Given the description of an element on the screen output the (x, y) to click on. 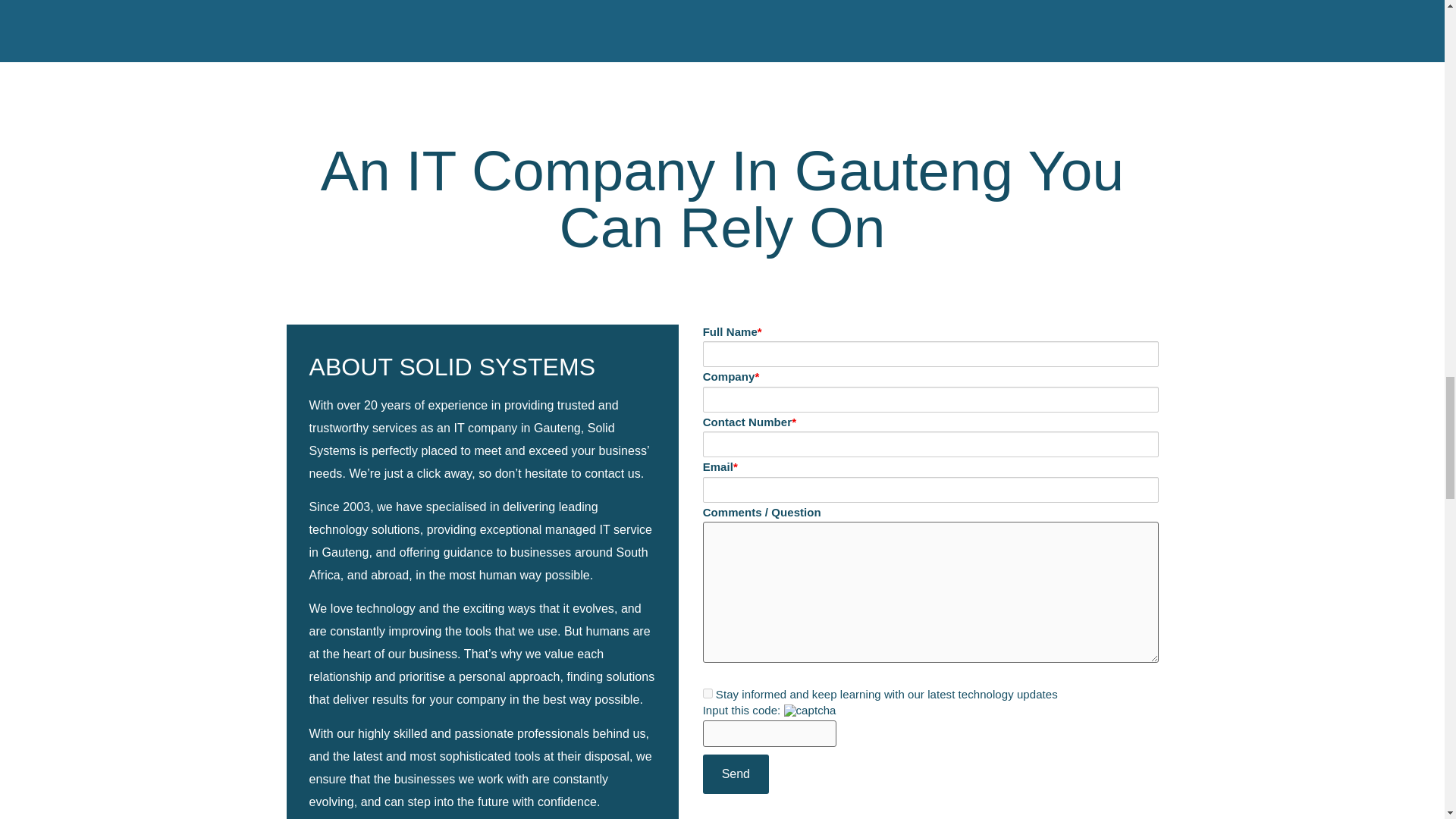
Send (735, 773)
